Given the description of an element on the screen output the (x, y) to click on. 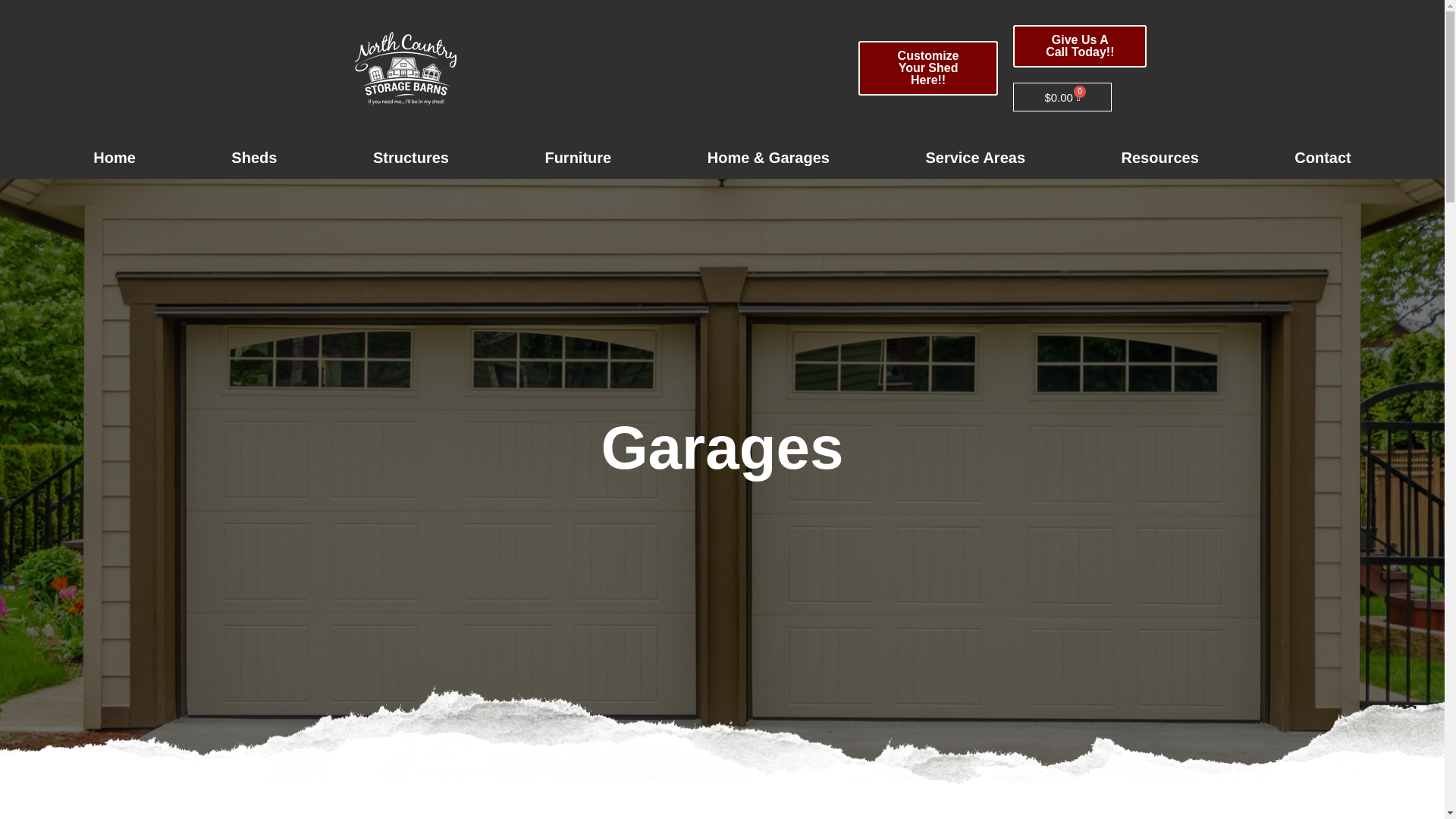
Give Us A Call Today!! (1080, 46)
Resources (1159, 157)
Structures (410, 157)
Home (114, 157)
Sheds (253, 157)
Customize Your Shed Here!! (928, 67)
Service Areas (975, 157)
Furniture (577, 157)
